Given the description of an element on the screen output the (x, y) to click on. 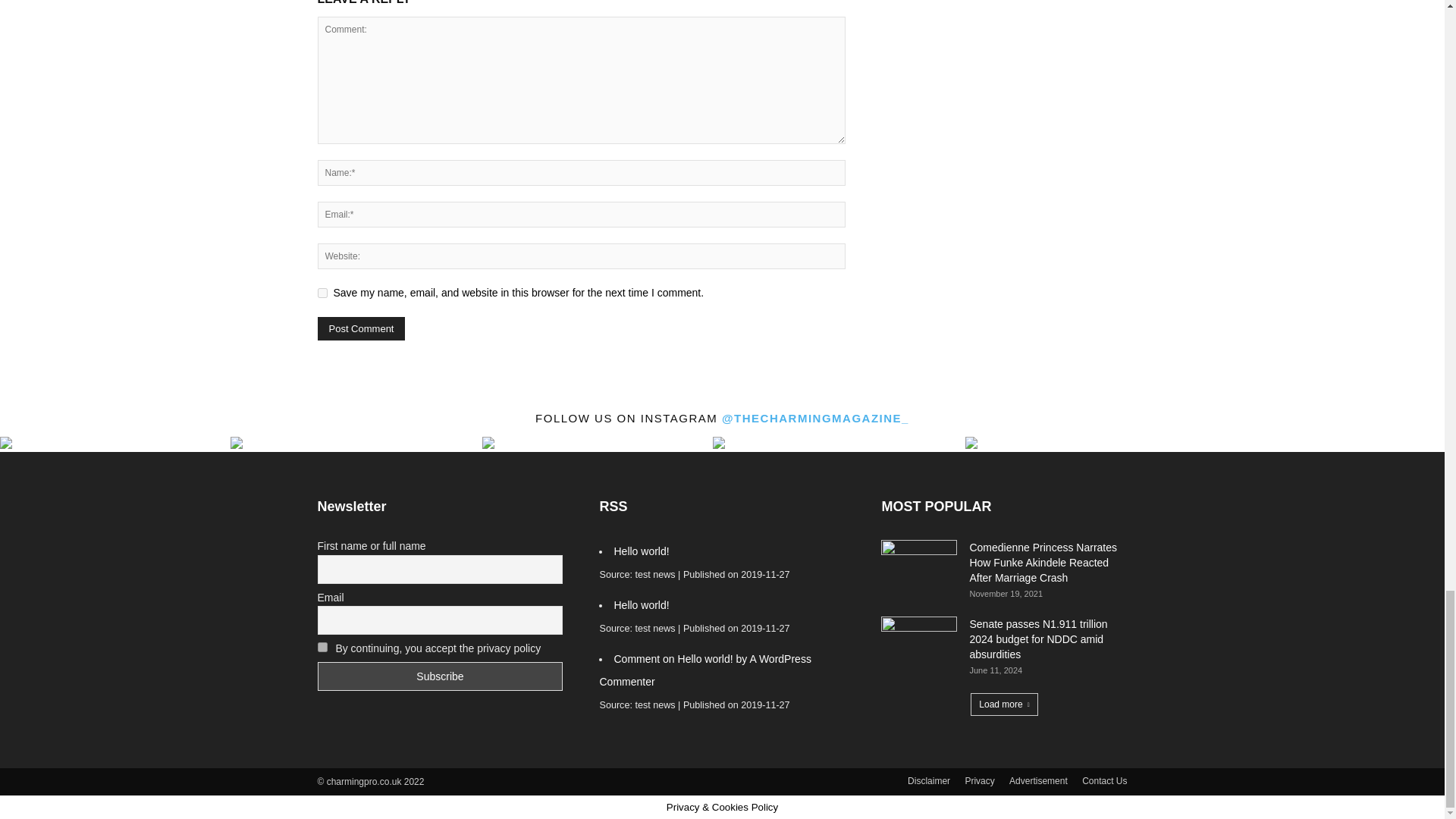
Subscribe (439, 676)
yes (321, 293)
on (321, 646)
Post Comment (360, 328)
